Given the description of an element on the screen output the (x, y) to click on. 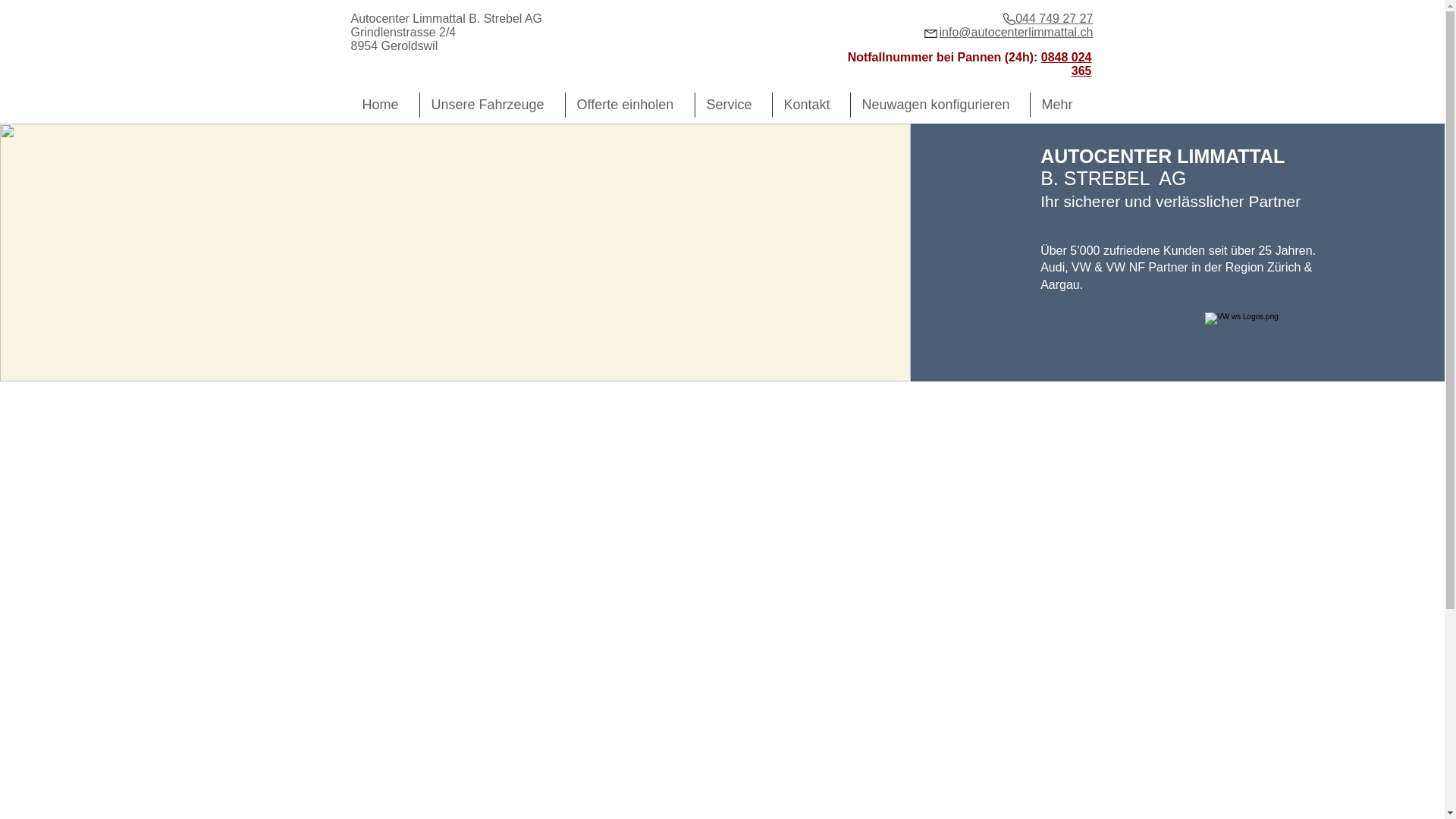
Unsere Fahrzeuge Element type: text (492, 104)
info@autocenterlimmattal.ch Element type: text (1015, 31)
Neuwagen konfigurieren Element type: text (939, 104)
Home Element type: text (384, 104)
Service Element type: text (732, 104)
Offerte einholen Element type: text (629, 104)
Kontakt Element type: text (810, 104)
044 749 27 27 Element type: text (1053, 18)
0848 024 365 Element type: text (1066, 63)
